Given the description of an element on the screen output the (x, y) to click on. 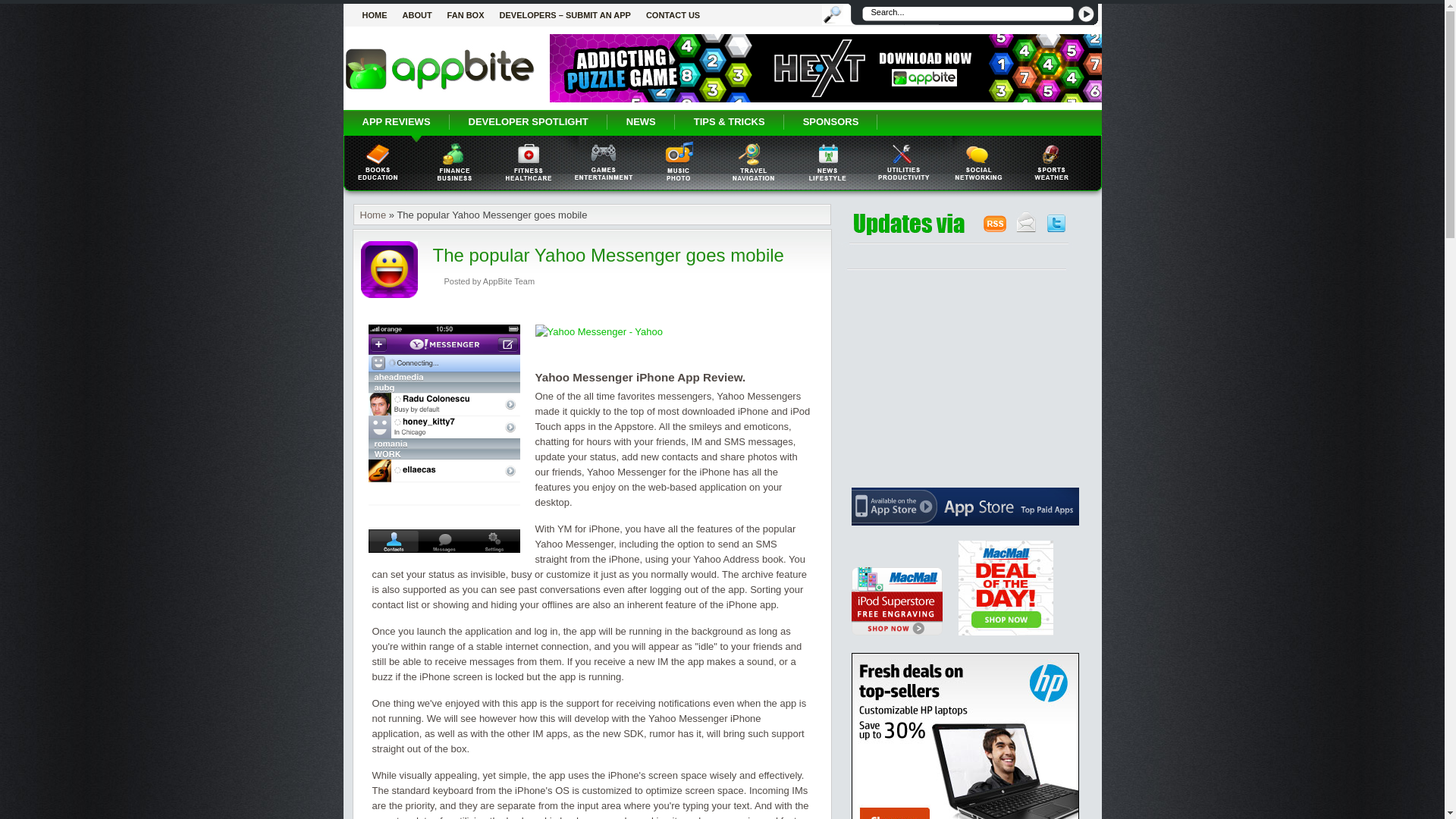
ABOUT (416, 15)
NEWS (641, 121)
iphone (395, 121)
The popular Yahoo Messenger goes mobile (607, 254)
Search... (966, 14)
SPONSORS (830, 121)
DEVELOPER SPOTLIGHT (528, 121)
Home (374, 15)
Fan Box (465, 15)
FAN BOX (465, 15)
HOME (374, 15)
Home (372, 214)
Download HexT on the App Store (824, 98)
APP REVIEWS (395, 121)
Contact us (673, 15)
